Given the description of an element on the screen output the (x, y) to click on. 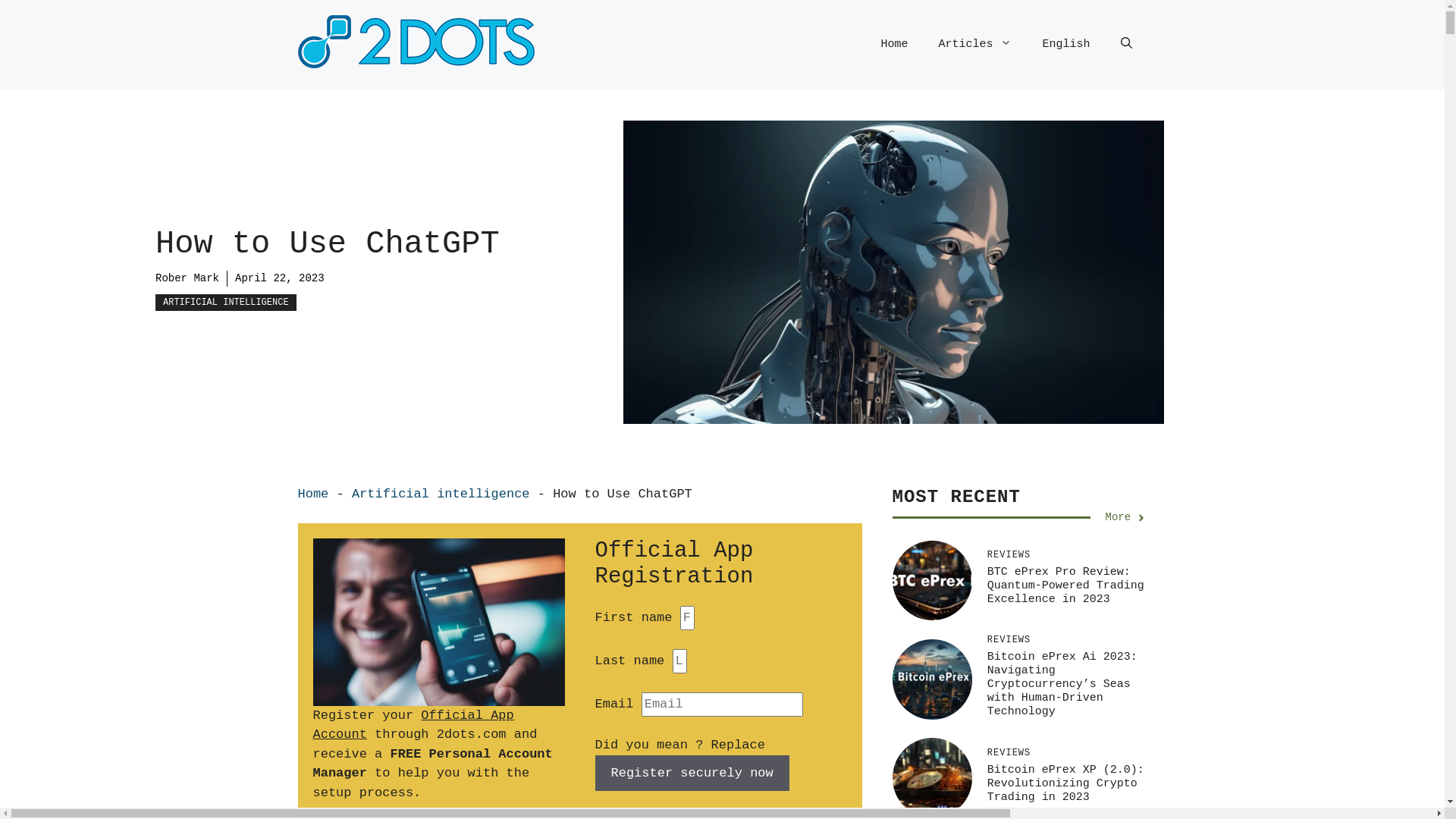
Register securely now Element type: text (691, 773)
Artificial intelligence Element type: text (440, 493)
Home Element type: text (312, 493)
ARTIFICIAL INTELLIGENCE Element type: text (225, 302)
Articles Element type: text (974, 44)
More Element type: text (1126, 517)
English Element type: text (1065, 44)
Home Element type: text (893, 44)
Official-App-Registration Element type: hover (438, 622)
